Given the description of an element on the screen output the (x, y) to click on. 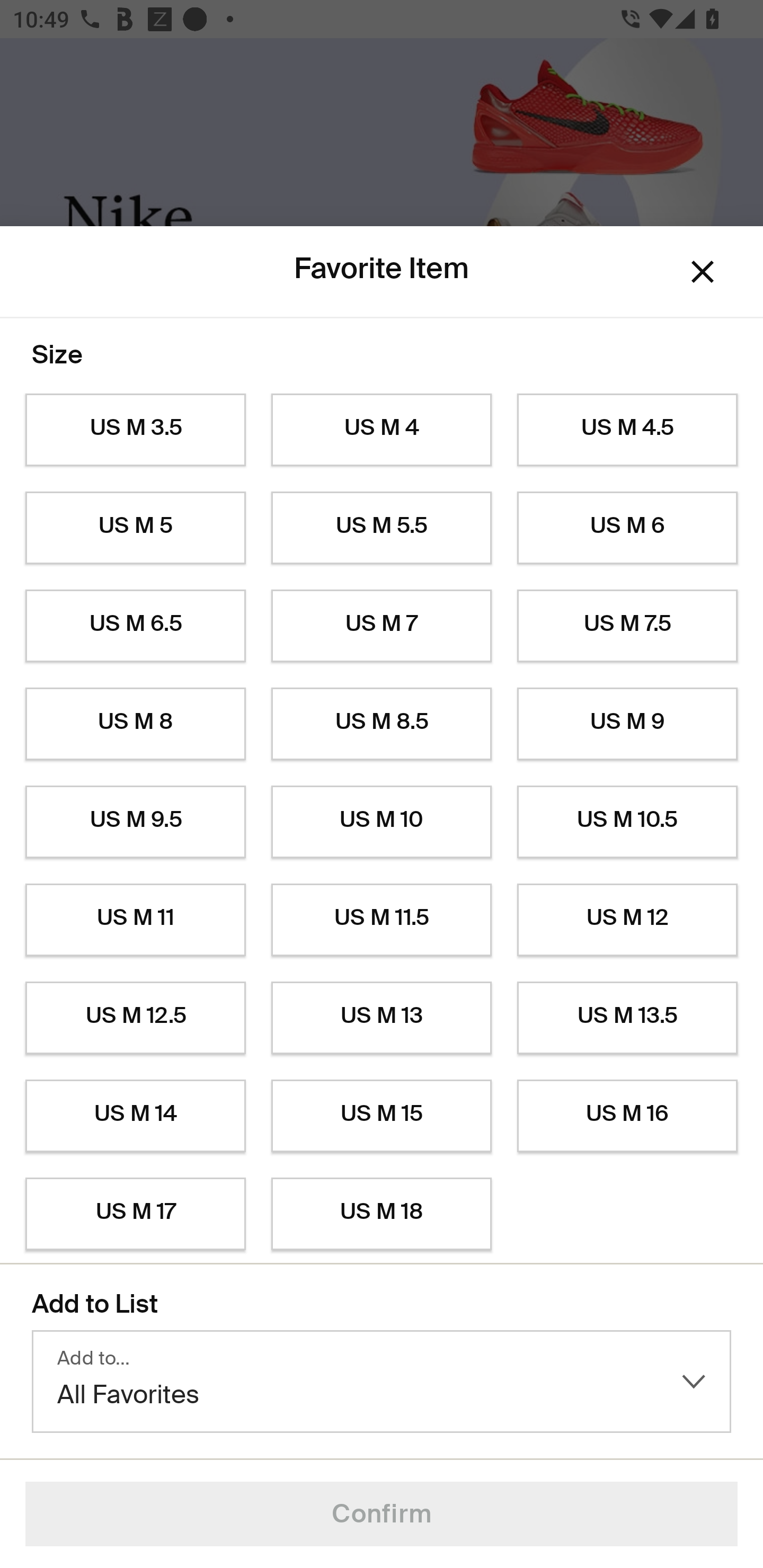
Dismiss (702, 271)
US M 3.5 (135, 430)
US M 4 (381, 430)
US M 4.5 (627, 430)
US M 5 (135, 527)
US M 5.5 (381, 527)
US M 6 (627, 527)
US M 6.5 (135, 626)
US M 7 (381, 626)
US M 7.5 (627, 626)
US M 8 (135, 724)
US M 8.5 (381, 724)
US M 9 (627, 724)
US M 9.5 (135, 822)
US M 10 (381, 822)
US M 10.5 (627, 822)
US M 11 (135, 919)
US M 11.5 (381, 919)
US M 12 (627, 919)
US M 12.5 (135, 1018)
US M 13 (381, 1018)
US M 13.5 (627, 1018)
US M 14 (135, 1116)
US M 15 (381, 1116)
US M 16 (627, 1116)
US M 17 (135, 1214)
US M 18 (381, 1214)
Add to… All Favorites (381, 1381)
Confirm (381, 1513)
